Given the description of an element on the screen output the (x, y) to click on. 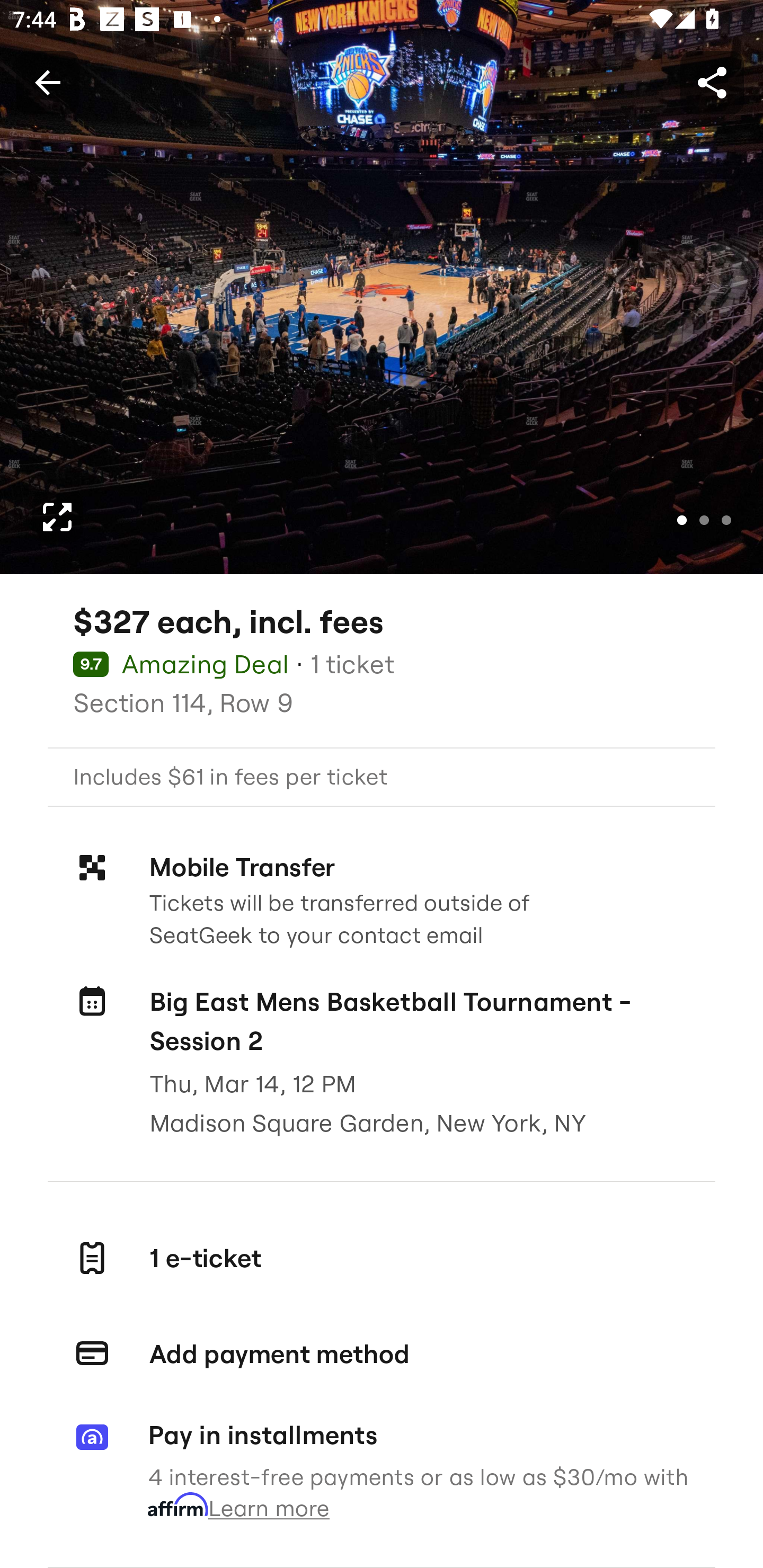
Back (47, 81)
Share (711, 81)
Expand image to fullscreen (57, 517)
1 e-ticket (381, 1258)
Add payment method (381, 1353)
